Given the description of an element on the screen output the (x, y) to click on. 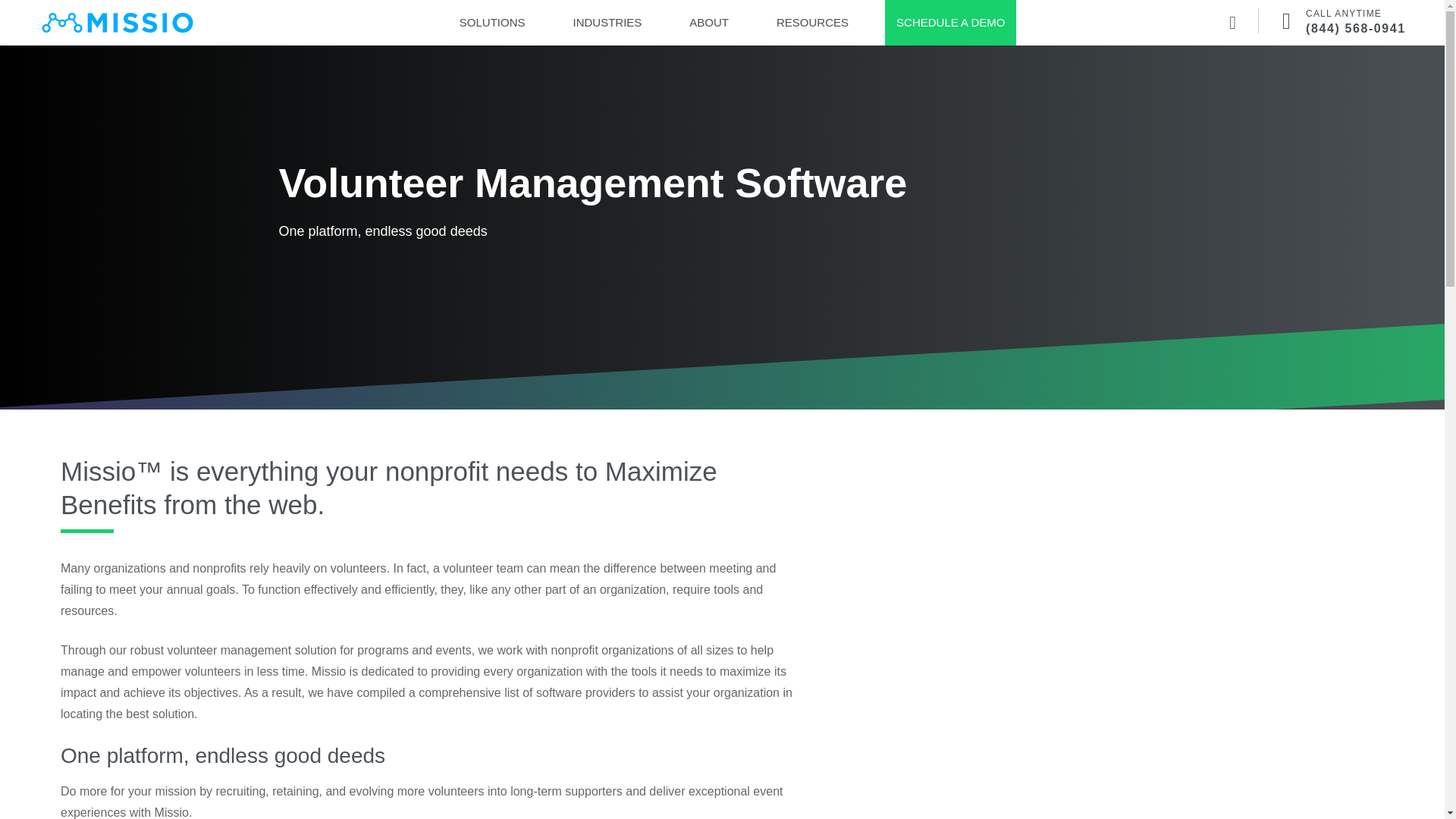
SOLUTIONS (492, 22)
SCHEDULE A DEMO (950, 22)
RESOURCES (812, 22)
INDUSTRIES (607, 22)
ABOUT (708, 22)
